Given the description of an element on the screen output the (x, y) to click on. 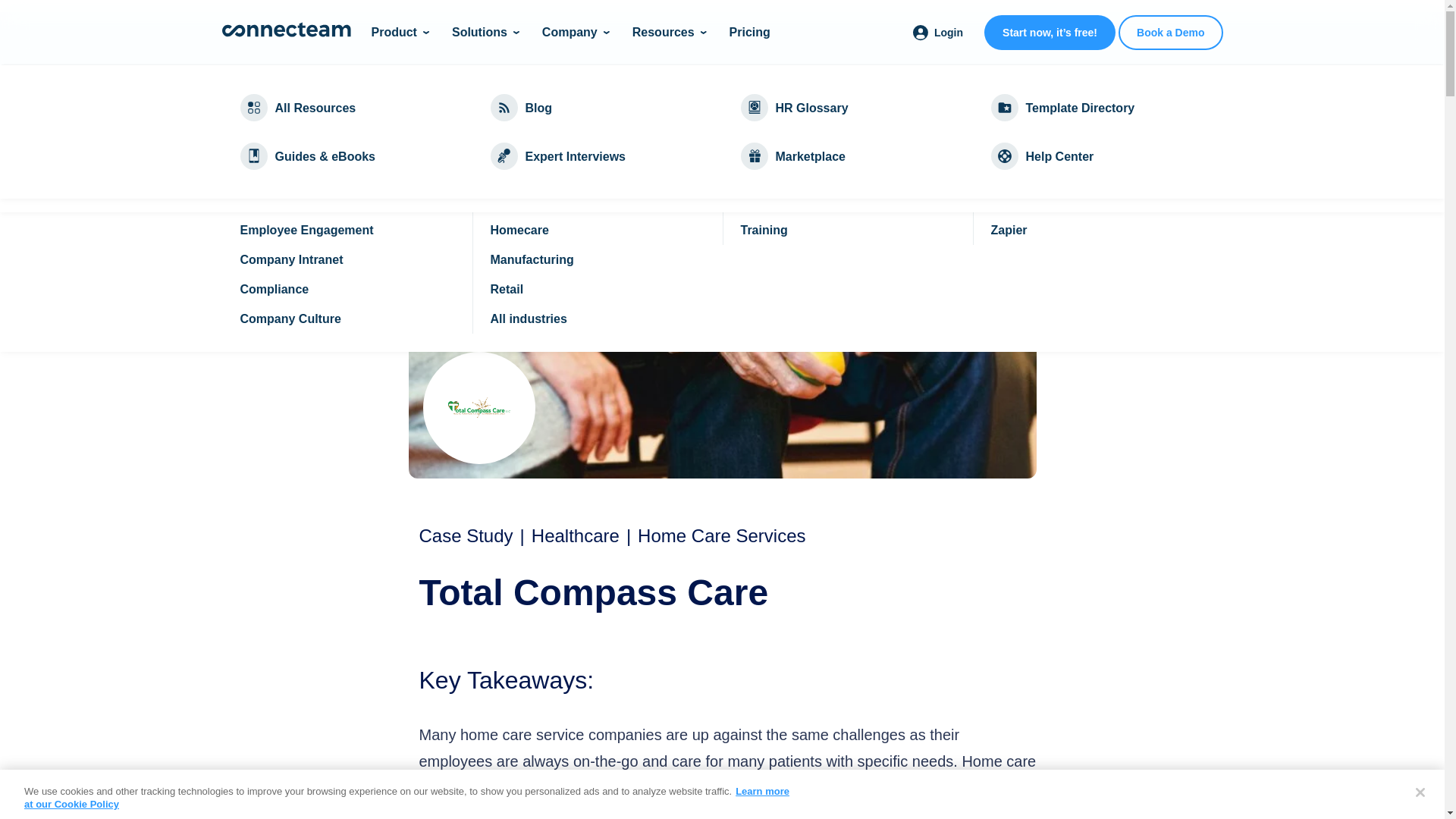
Construction (1087, 286)
Time Management (596, 111)
Compliance (346, 111)
Company Intranet (346, 288)
Employee Engagement (346, 259)
Company Culture (346, 229)
